Given the description of an element on the screen output the (x, y) to click on. 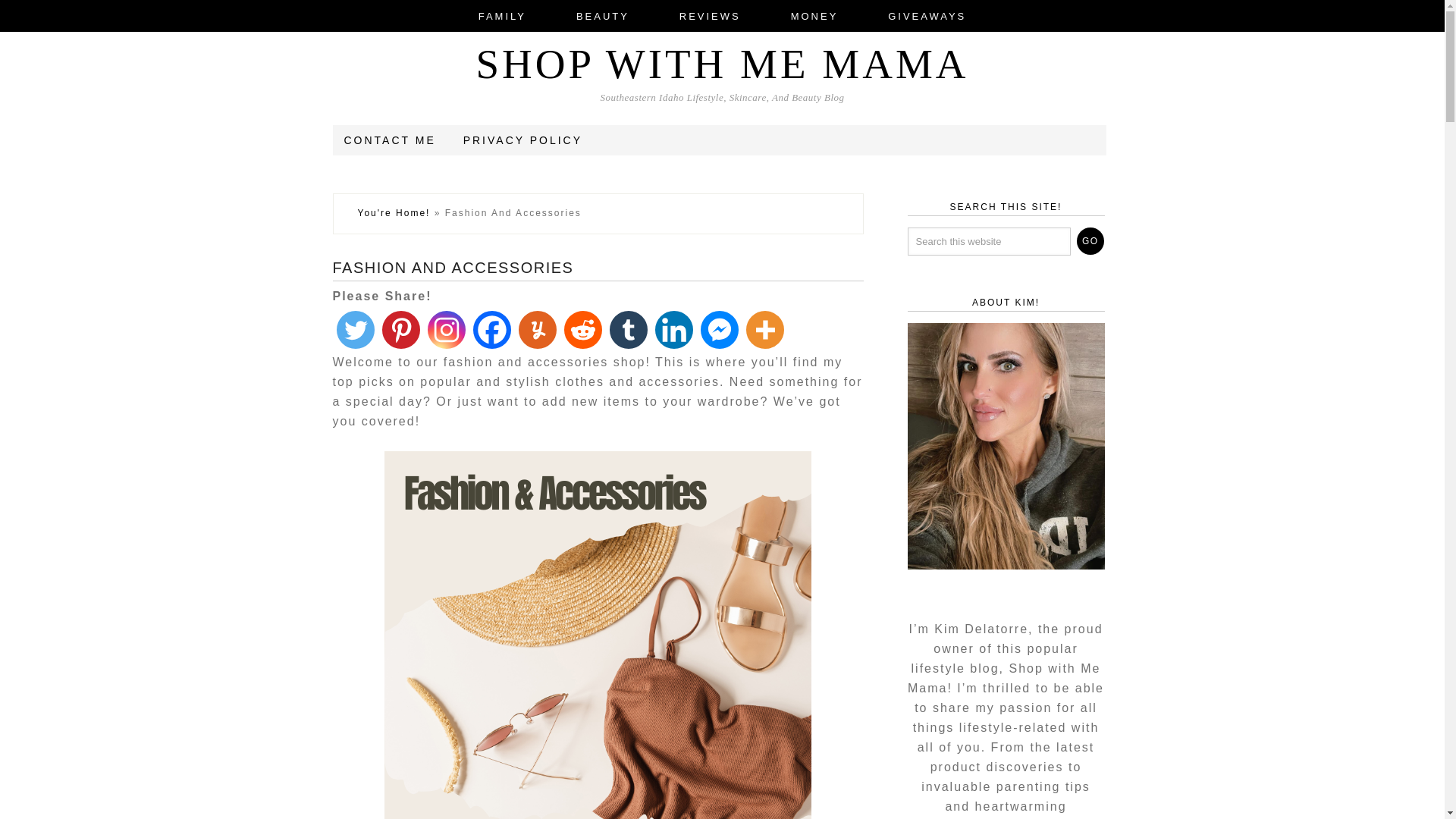
More (764, 329)
Pinterest (400, 329)
CONTACT ME (389, 140)
Twitter (354, 329)
BEAUTY (602, 15)
Facebook (491, 329)
Linkedin (673, 329)
REVIEWS (709, 15)
PRIVACY POLICY (522, 140)
SHOP WITH ME MAMA (722, 63)
Instagram (446, 329)
FAMILY (501, 15)
GIVEAWAYS (926, 15)
GO (1090, 240)
